Given the description of an element on the screen output the (x, y) to click on. 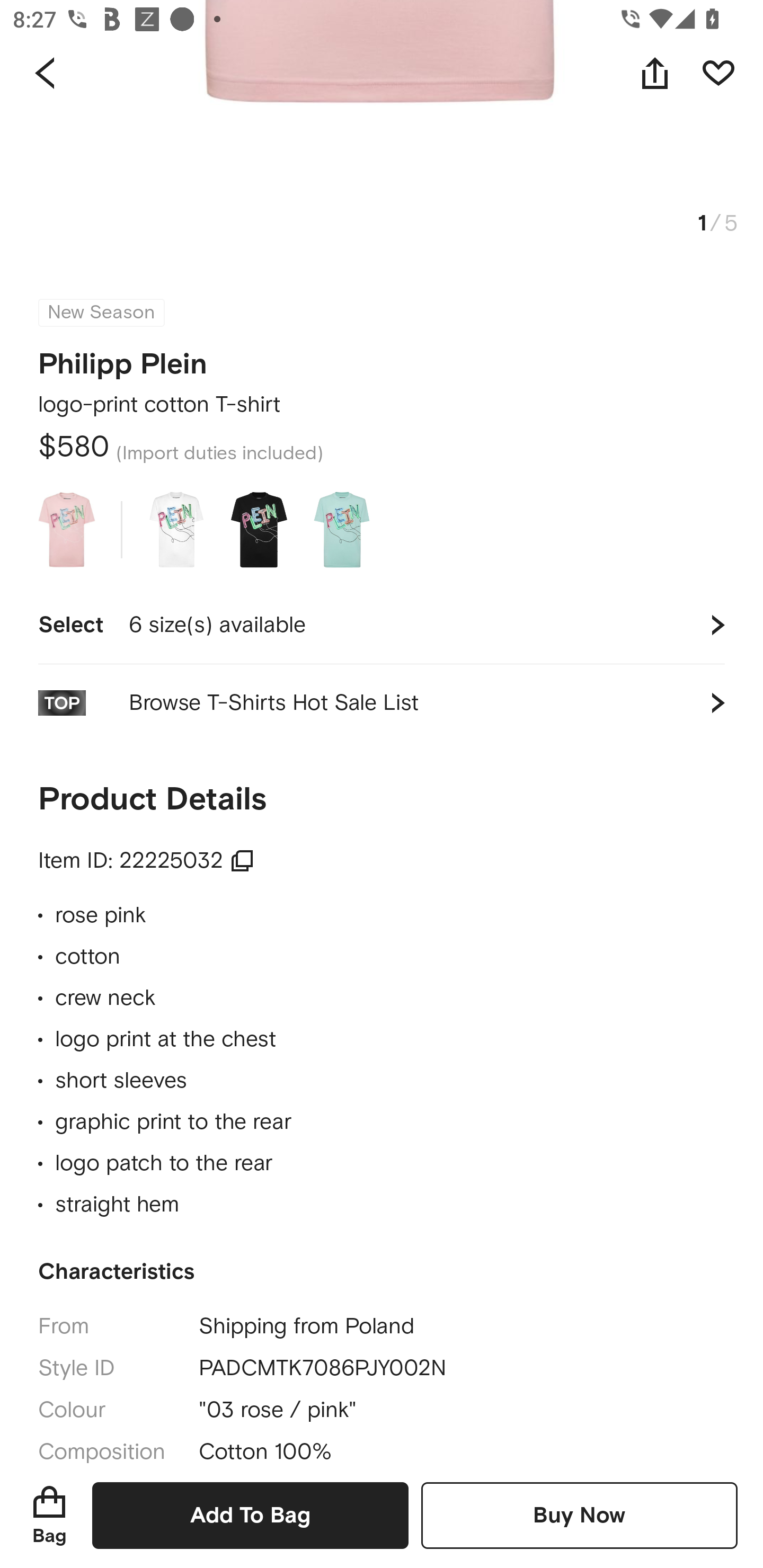
Philipp Plein (122, 358)
Select 6 size(s) available (381, 624)
Browse T-Shirts Hot Sale List (381, 702)
Item ID: 22225032 (146, 860)
Bag (49, 1515)
Add To Bag (250, 1515)
Buy Now (579, 1515)
